Given the description of an element on the screen output the (x, y) to click on. 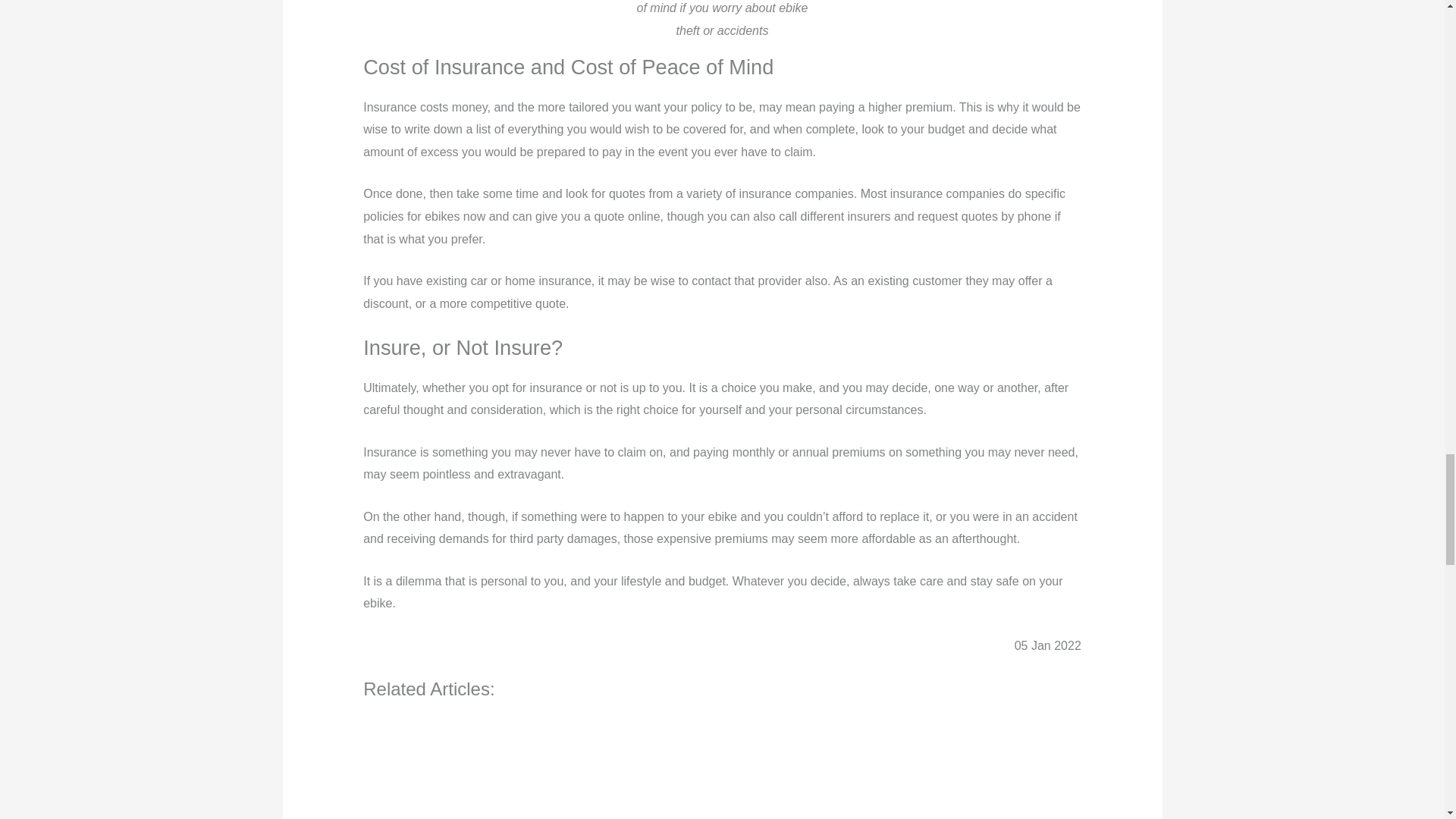
Emoped or Ebike, Which Should You Get? (424, 767)
Who Benefits with an Ebike? (668, 767)
What About Ebike GPS Computers? (546, 767)
